Given the description of an element on the screen output the (x, y) to click on. 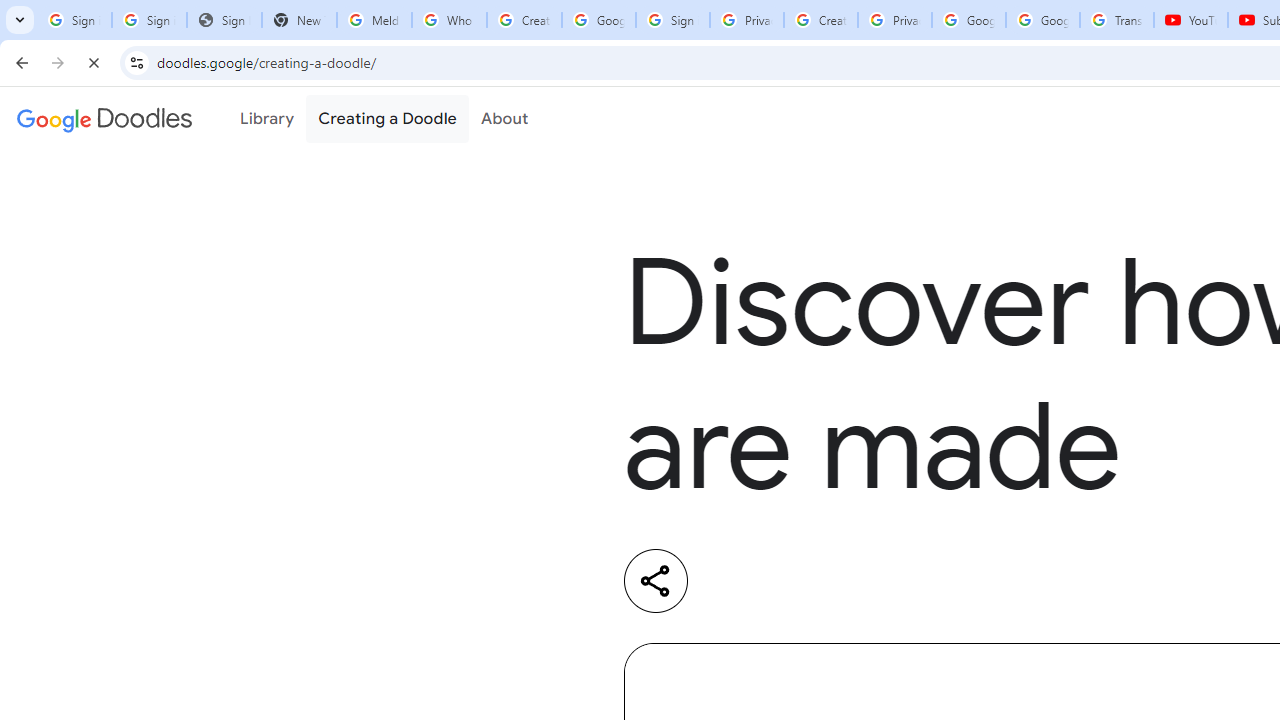
Create your Google Account (523, 20)
Sign in - Google Accounts (673, 20)
Create your Google Account (820, 20)
Share on Linkedin (736, 581)
Share on twitter (818, 581)
Share (655, 580)
Share on facebook (900, 581)
New Tab (299, 20)
Sign in - Google Accounts (148, 20)
